Given the description of an element on the screen output the (x, y) to click on. 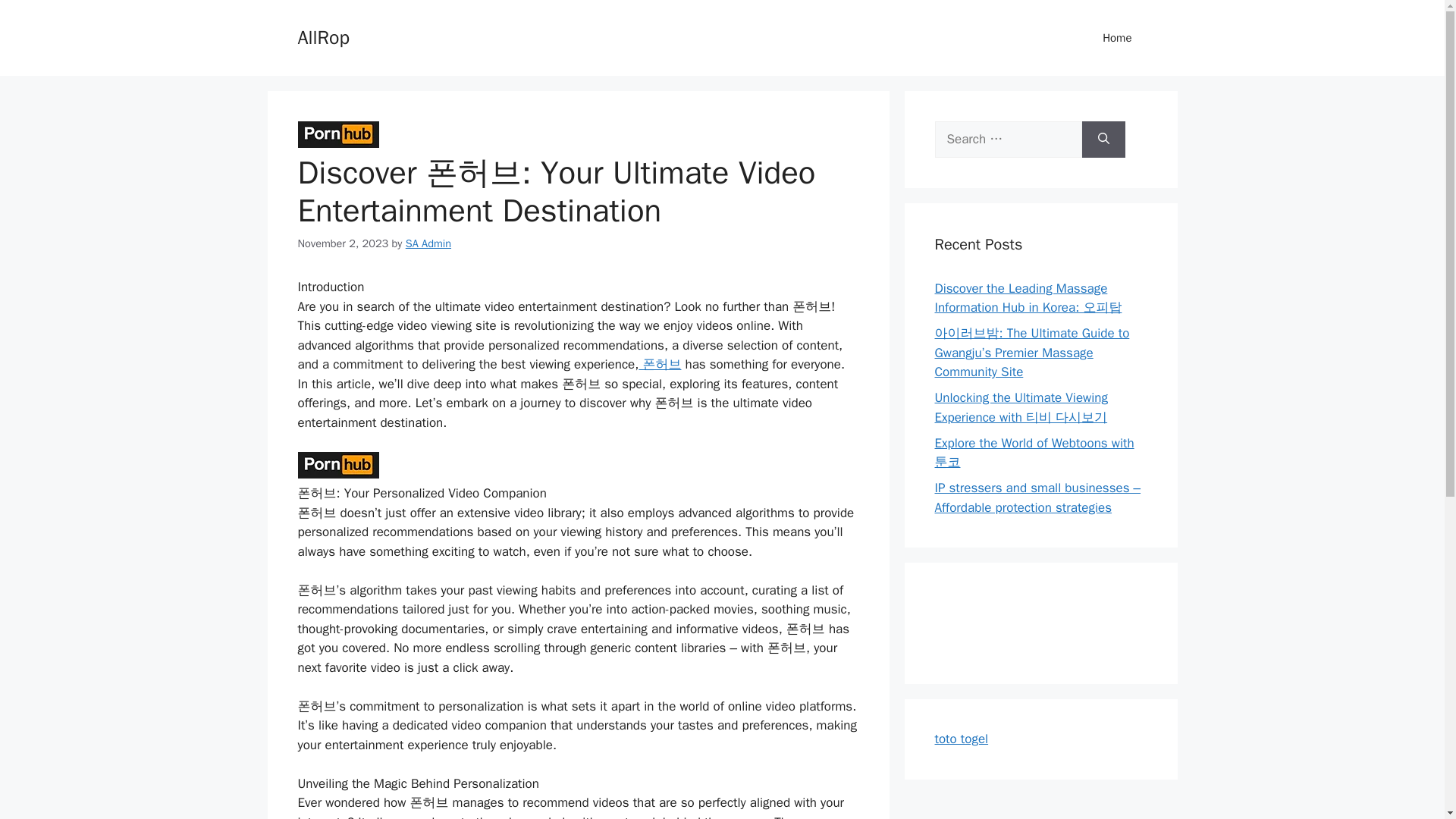
Search for: (1007, 139)
View all posts by SA Admin (428, 243)
AllRop (323, 37)
Home (1117, 37)
SA Admin (428, 243)
toto togel (961, 738)
